Given the description of an element on the screen output the (x, y) to click on. 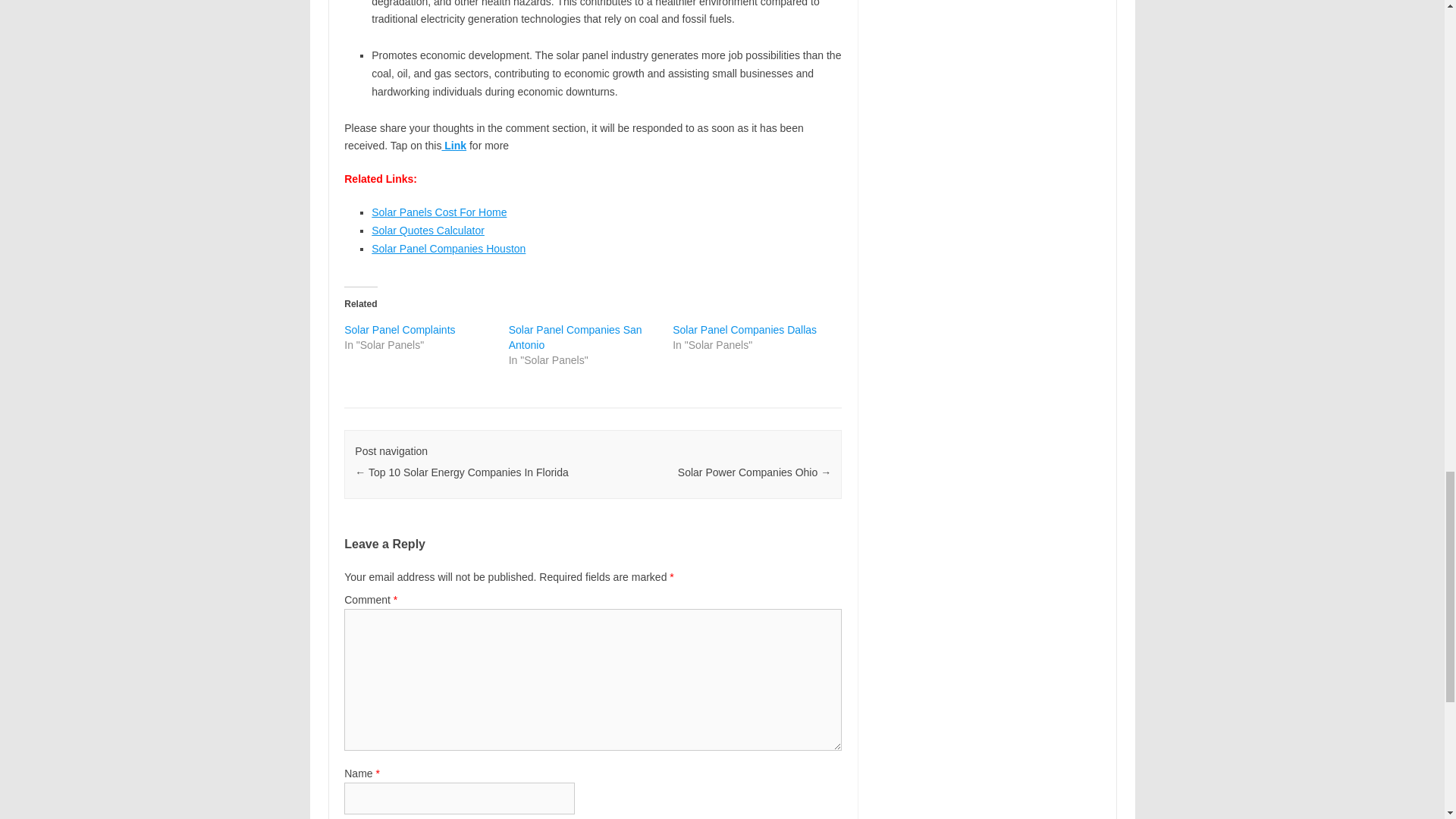
Solar Panel Complaints (398, 329)
Link (453, 145)
Solar Panel Companies Dallas (744, 329)
Solar Panel Companies Dallas (744, 329)
Solar Panel Companies San Antonio (575, 337)
Solar Panels Cost For Home (438, 212)
Solar Panel Companies San Antonio (575, 337)
Solar Quotes Calculator (427, 230)
Solar Panel Companies Houston (448, 248)
Solar Panel Complaints (398, 329)
